Given the description of an element on the screen output the (x, y) to click on. 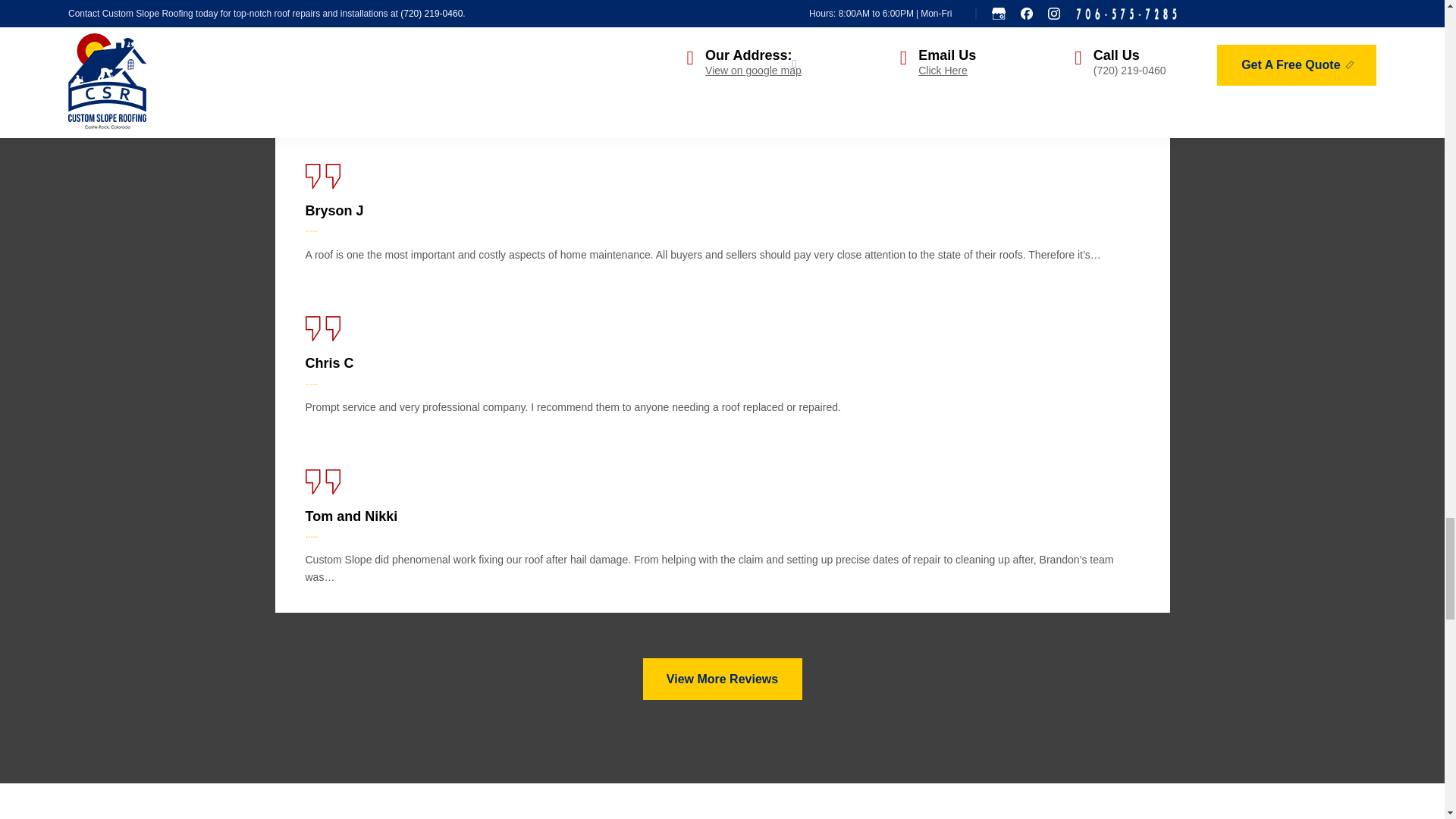
quotes (321, 328)
quotes (321, 176)
quotes (321, 23)
quotes (321, 480)
